Given the description of an element on the screen output the (x, y) to click on. 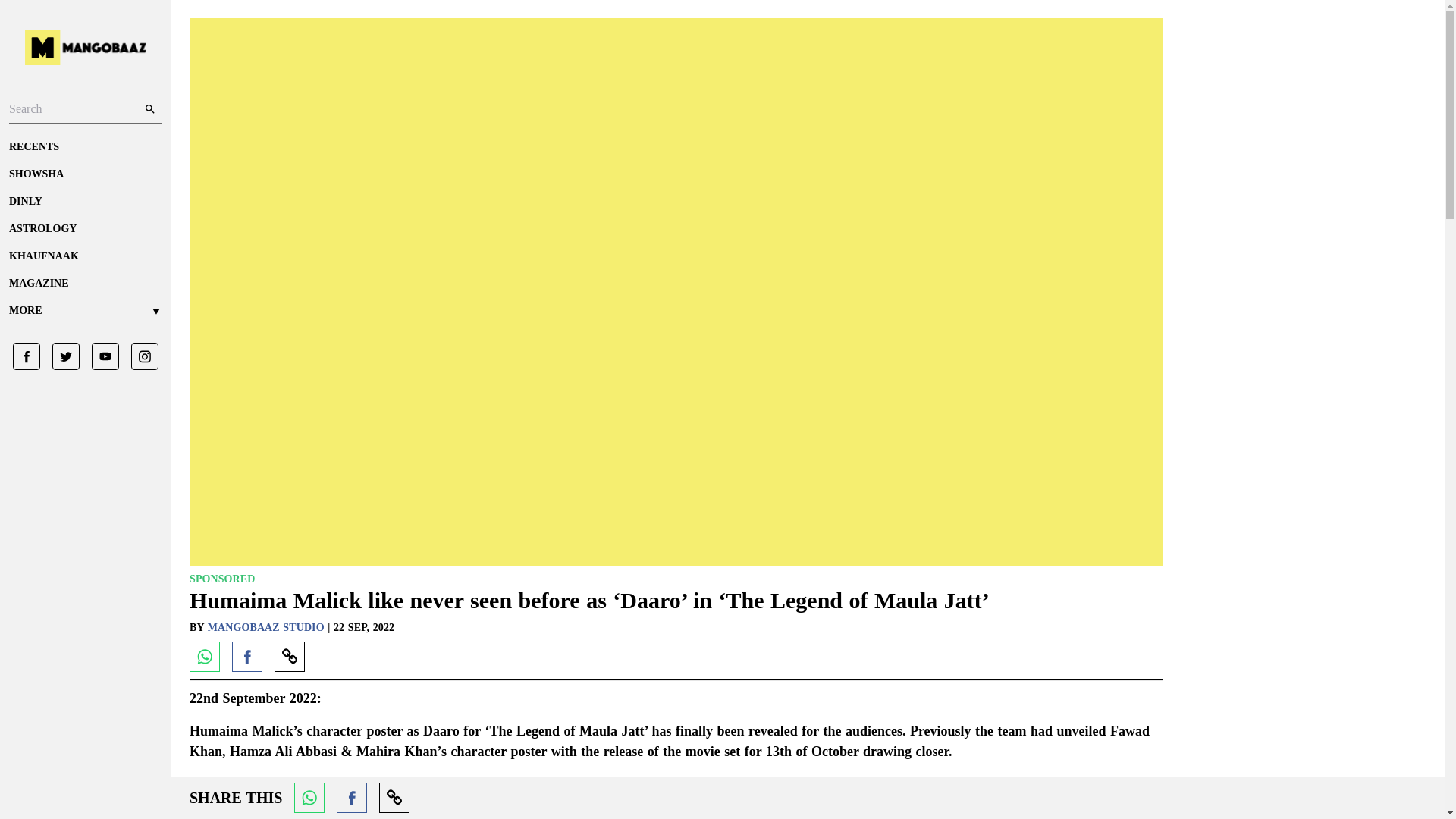
Link to Twitter (60, 356)
RECENTS (84, 146)
ASTROLOGY (84, 228)
MangoBaaz Magazine (84, 283)
SPONSORED (221, 578)
MAGAZINE (84, 283)
Link to Instagram (138, 356)
MORE (84, 310)
KHAUFNAAK (84, 256)
Whatsapp (204, 656)
SHOWSHA (84, 174)
Facebook (246, 656)
DINLY (84, 201)
Whatsapp (309, 797)
Facebook (351, 797)
